Given the description of an element on the screen output the (x, y) to click on. 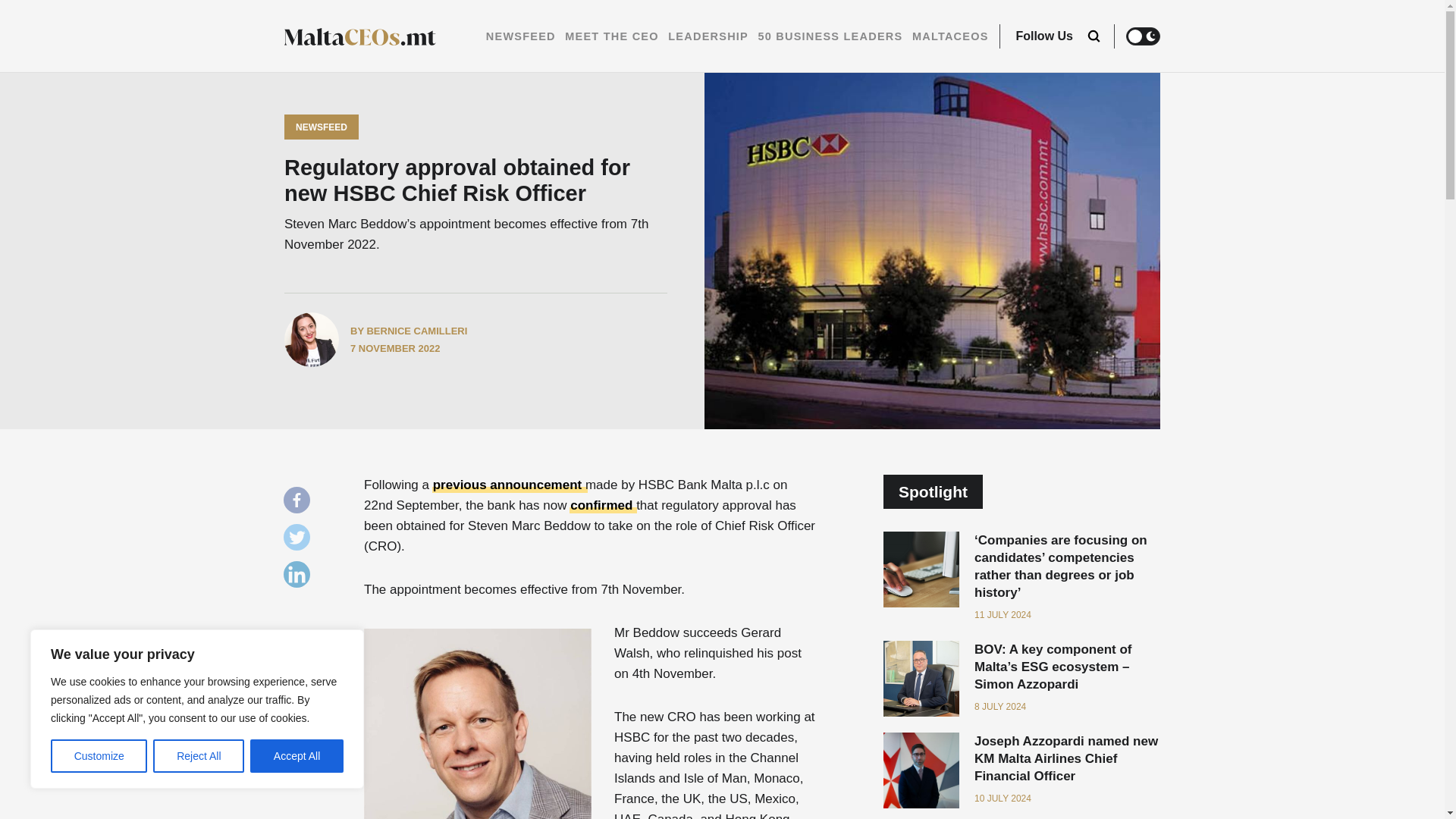
Accept All (296, 756)
NEWSFEED (521, 36)
Facebook (300, 503)
MEET THE CEO (611, 36)
Customize (98, 756)
Twitter (300, 540)
LEADERSHIP (708, 36)
MALTACEOS (950, 36)
Linkedin (300, 578)
Reject All (198, 756)
50 BUSINESS LEADERS (829, 36)
